Given the description of an element on the screen output the (x, y) to click on. 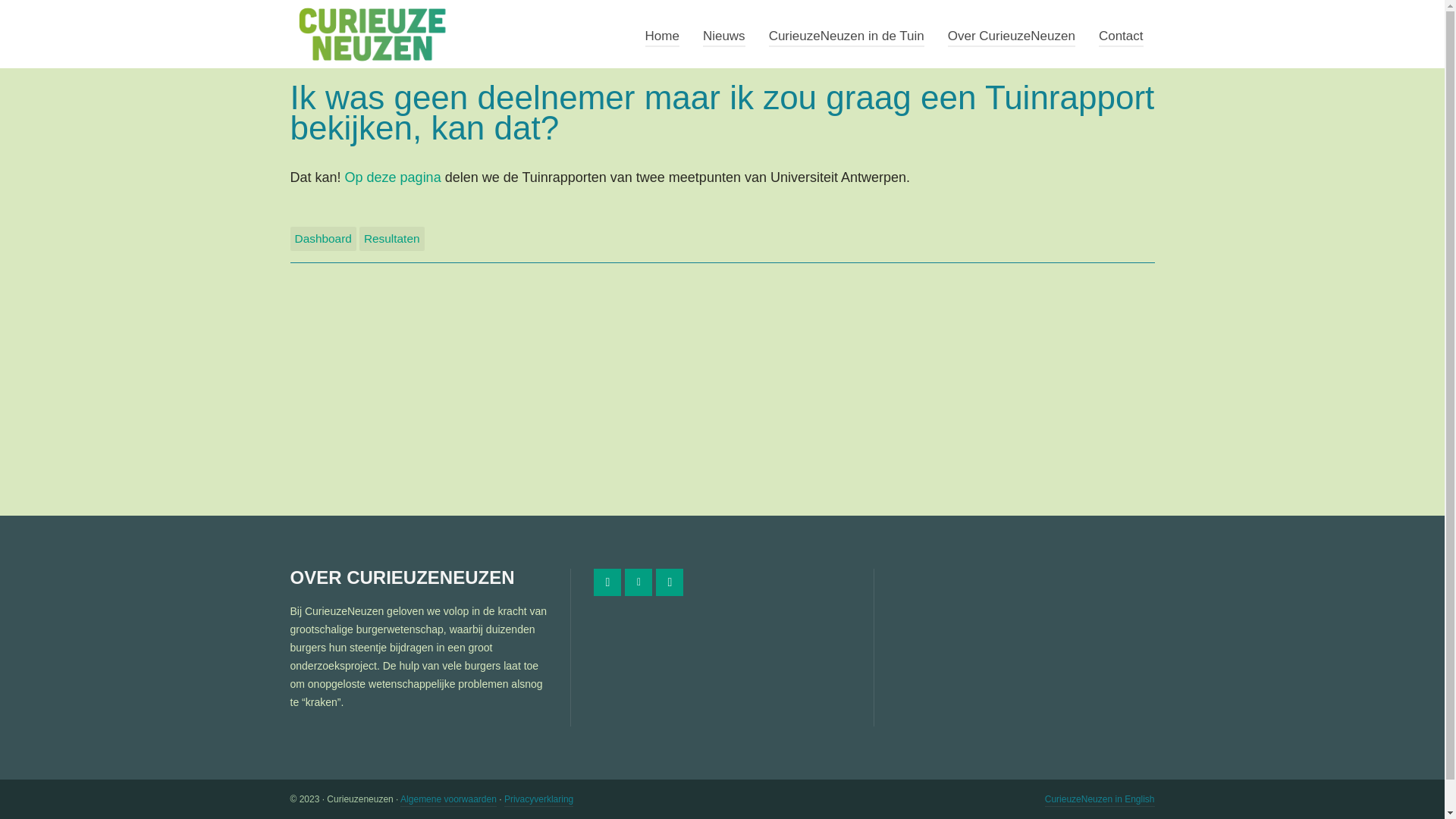
Dashboard Element type: text (322, 238)
CurieuzeNeuzen in English Element type: text (1099, 799)
Op deze pagina Element type: text (393, 177)
Home Element type: text (661, 34)
Algemene voorwaarden Element type: text (448, 799)
Contact Element type: text (1120, 34)
Resultaten Element type: text (391, 238)
Privacyverklaring Element type: text (538, 799)
Over CurieuzeNeuzen Element type: text (1011, 34)
CurieuzeNeuzen in de Tuin Element type: text (846, 34)
Nieuws Element type: text (723, 34)
